Given the description of an element on the screen output the (x, y) to click on. 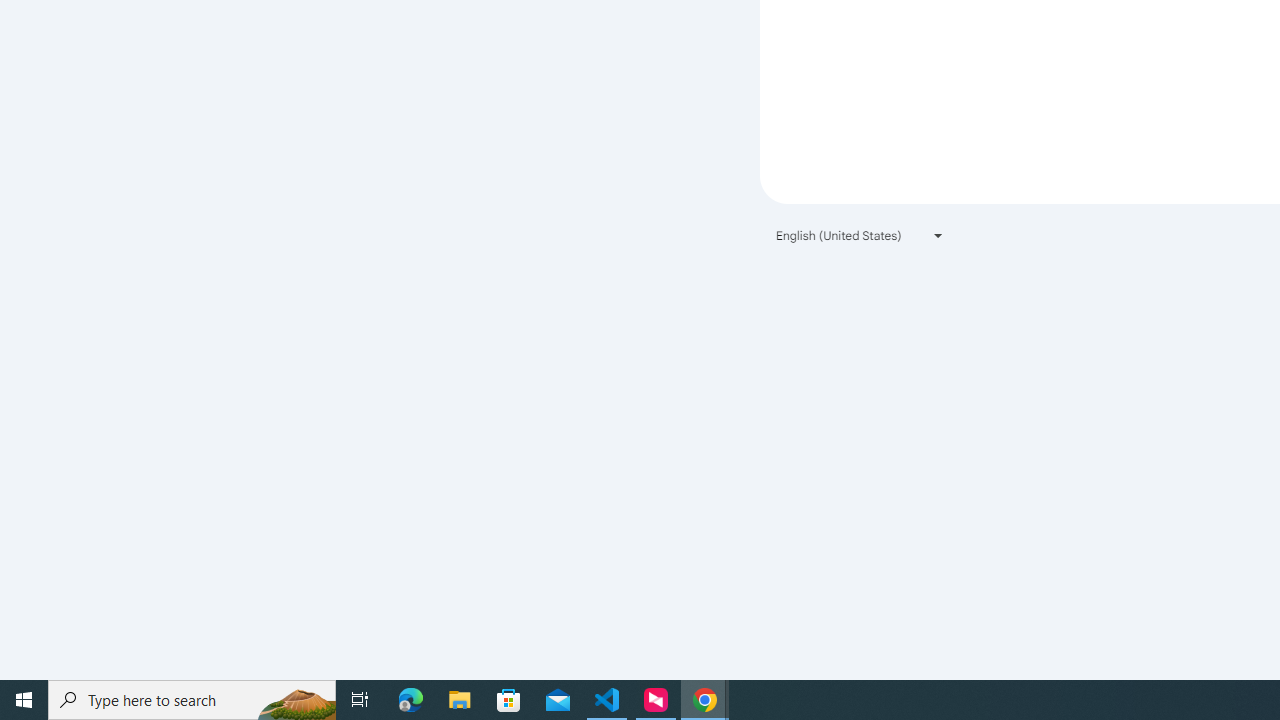
English (United States) (860, 234)
